Given the description of an element on the screen output the (x, y) to click on. 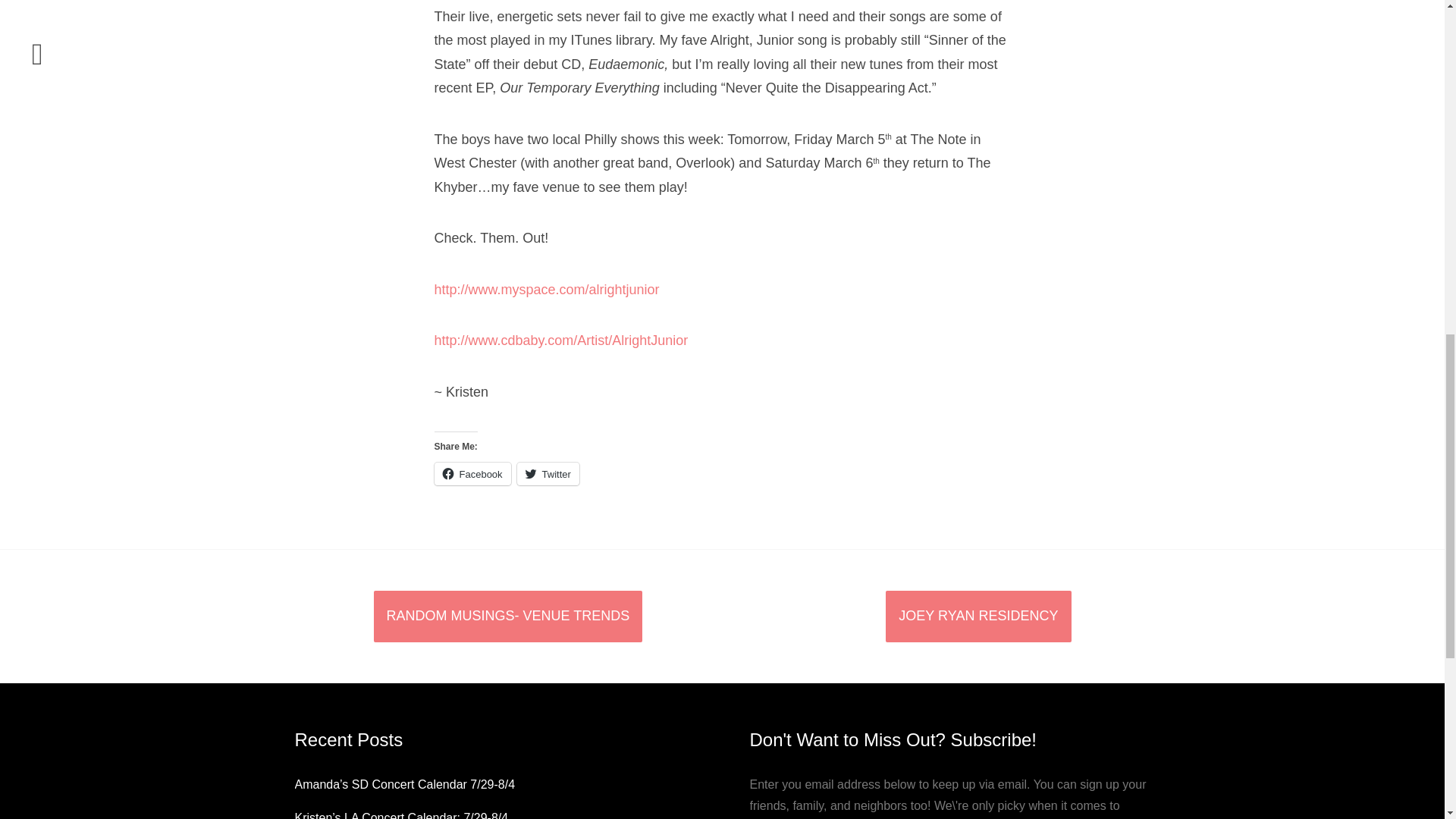
JOEY RYAN RESIDENCY (977, 616)
Twitter (547, 473)
Click to share on Facebook (472, 473)
RANDOM MUSINGS- VENUE TRENDS (507, 616)
Click to share on Twitter (547, 473)
Facebook (472, 473)
